Given the description of an element on the screen output the (x, y) to click on. 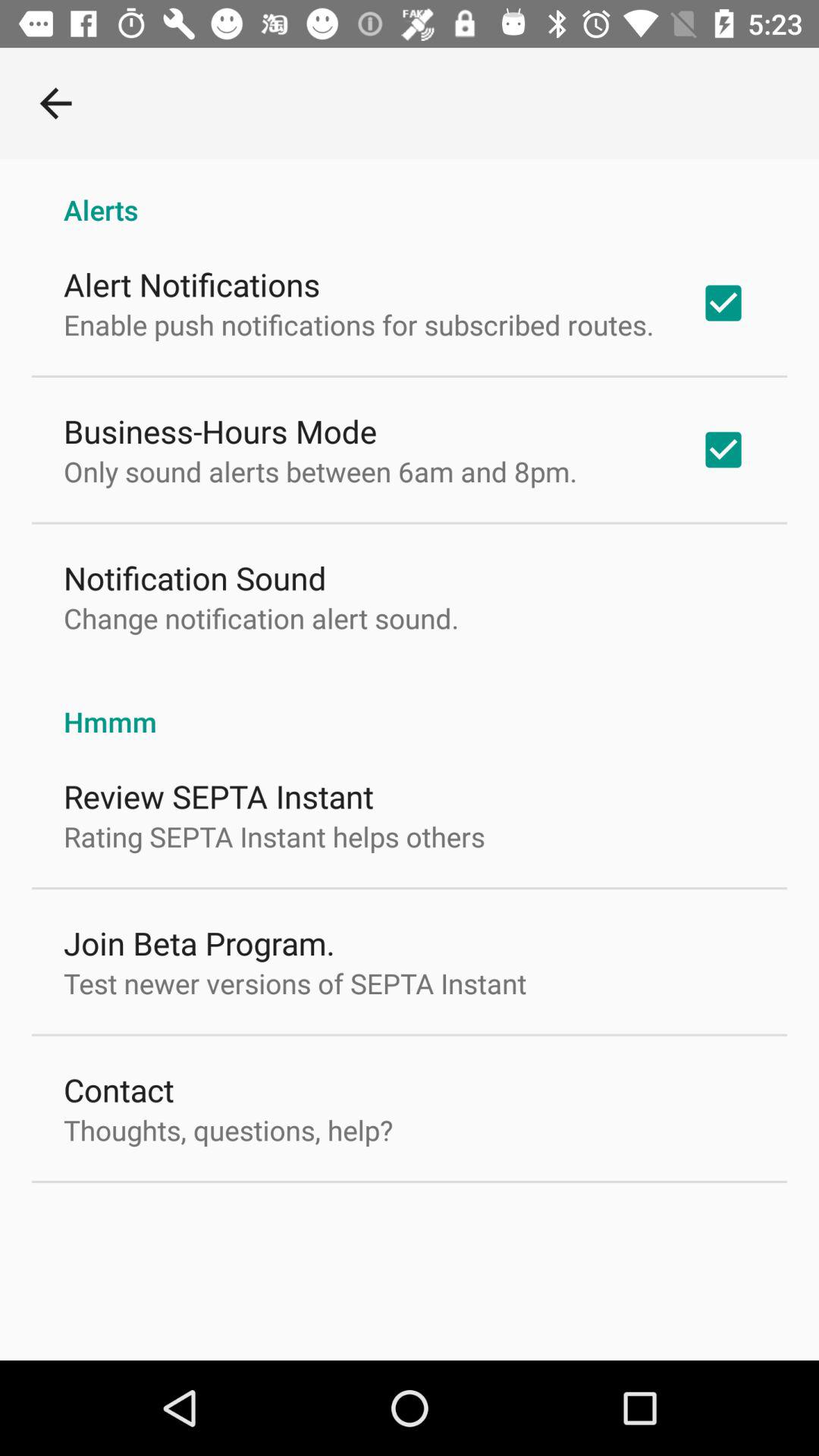
scroll to the thoughts, questions, help? (228, 1129)
